Given the description of an element on the screen output the (x, y) to click on. 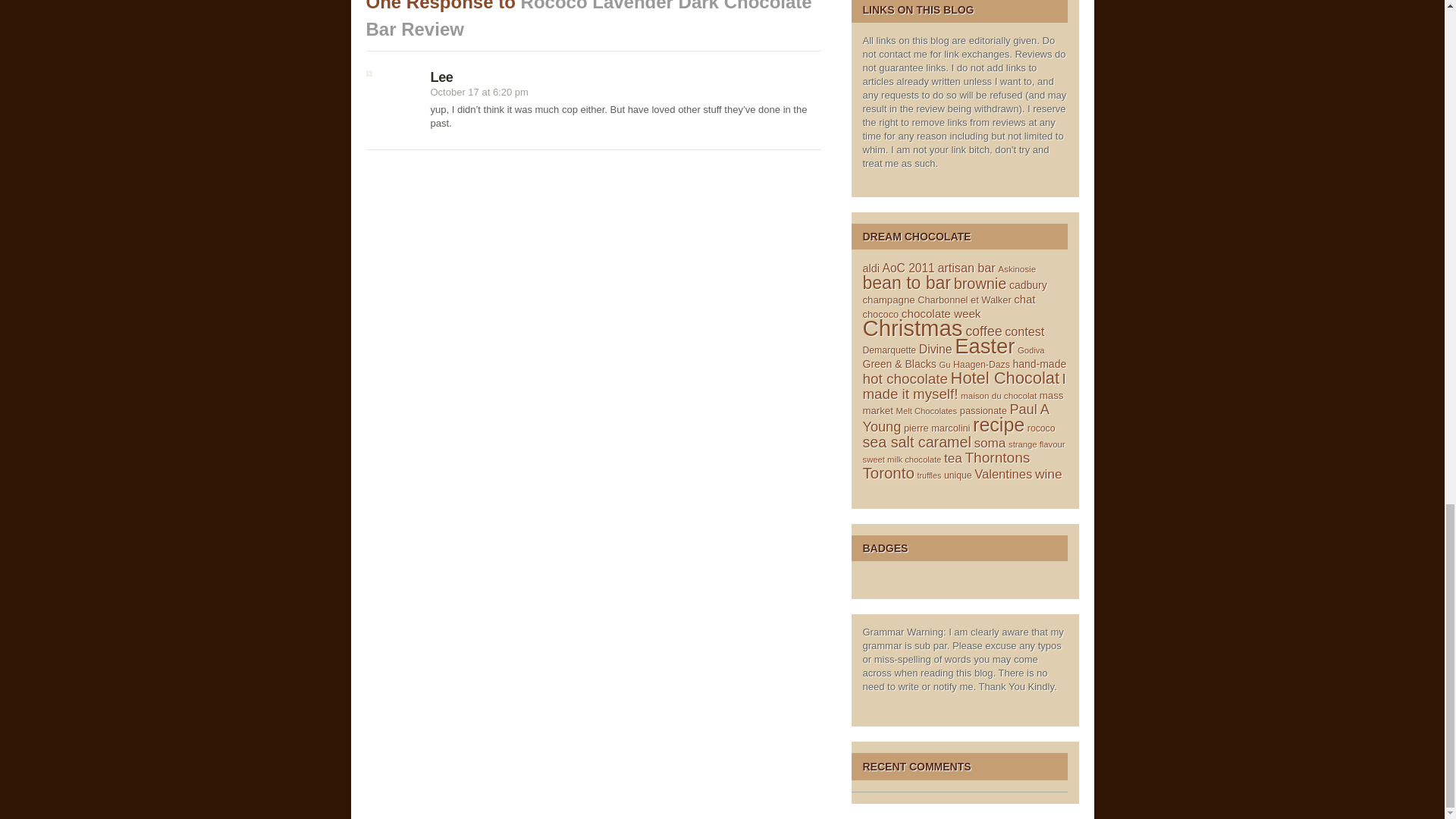
October 17 at 6:20 pm (479, 91)
